Given the description of an element on the screen output the (x, y) to click on. 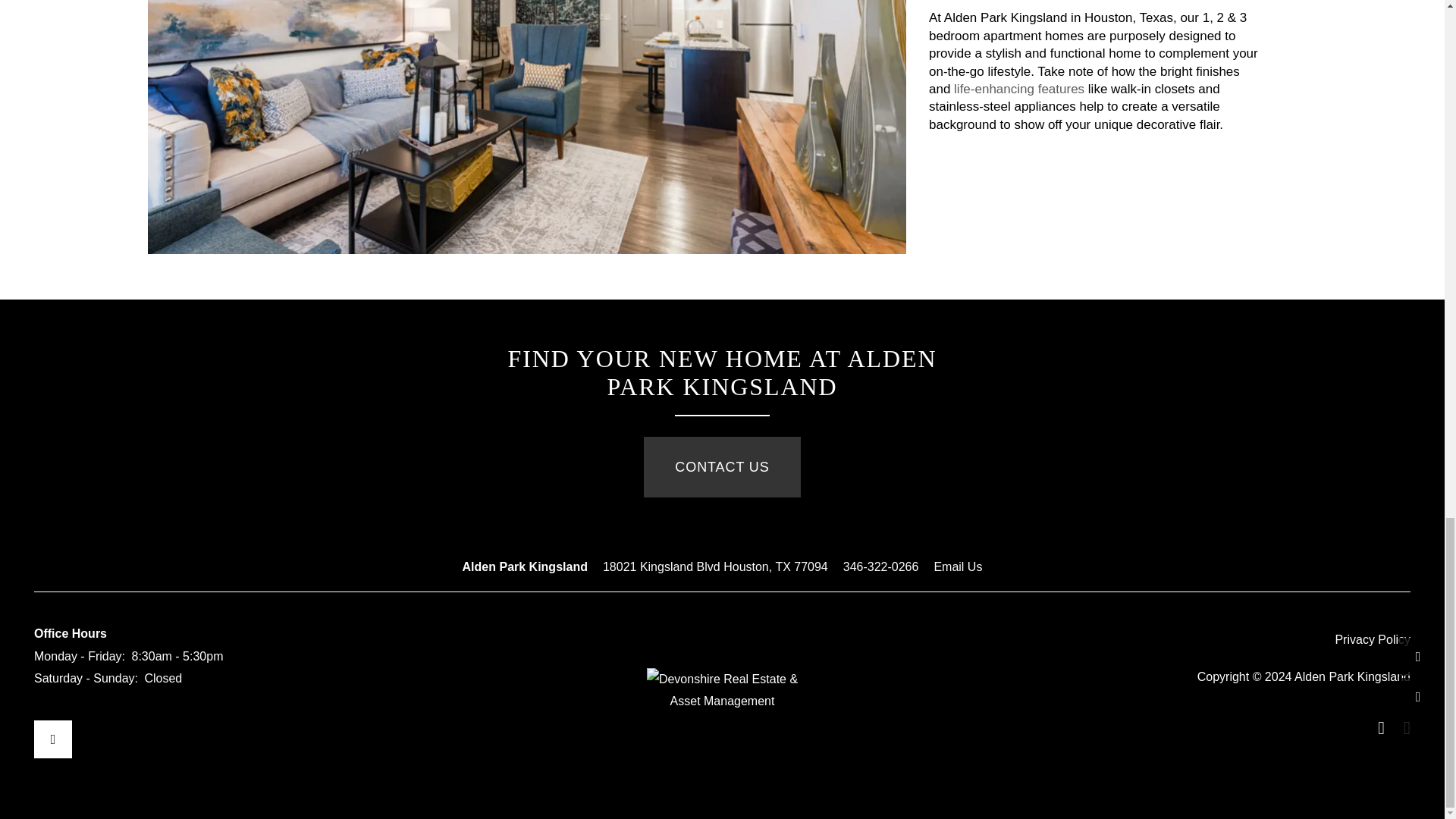
CONTACT US (721, 466)
Google My Business (52, 739)
Email Us (957, 566)
Privacy Policy (1372, 639)
life-enhancing features (1018, 88)
Handicap Friendly (1400, 728)
Equal Opportunity Housing (1375, 728)
18021 Kingsland Blvd Houston, TX 77094 (715, 566)
346-322-0266 (880, 566)
